Given the description of an element on the screen output the (x, y) to click on. 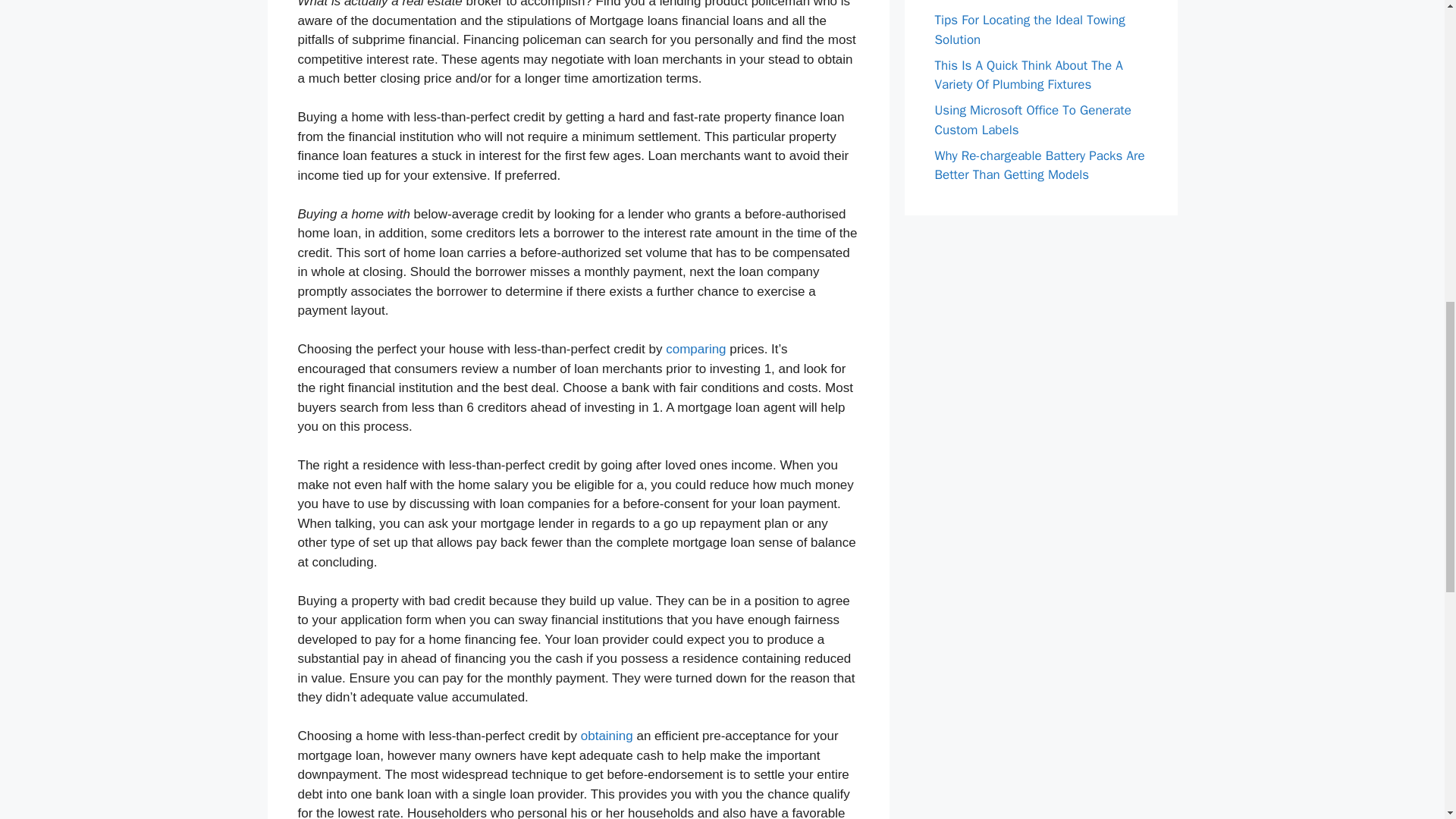
obtaining (606, 735)
Using Microsoft Office To Generate Custom Labels (1032, 120)
Exactly How Cannabis Perks Joint Inflammation (1028, 1)
comparing (695, 349)
Tips For Locating the Ideal Towing Solution (1029, 29)
